Given the description of an element on the screen output the (x, y) to click on. 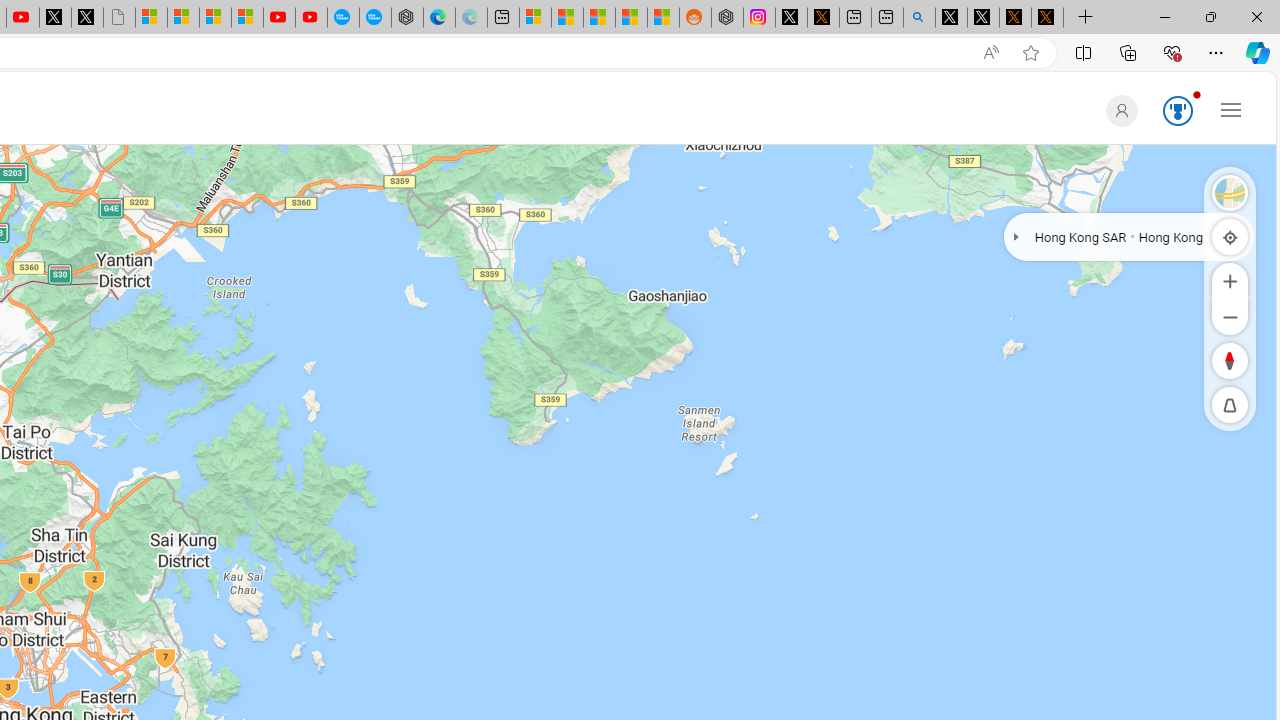
Zoom Out (1230, 316)
Shanghai, China Weather trends | Microsoft Weather (663, 17)
Shanghai, China hourly forecast | Microsoft Weather (599, 17)
Reset to Default Rotation (1230, 360)
Gloom - YouTube (279, 17)
X Privacy Policy (1047, 17)
Select Style (1230, 192)
Settings and quick links (1231, 109)
